Given the description of an element on the screen output the (x, y) to click on. 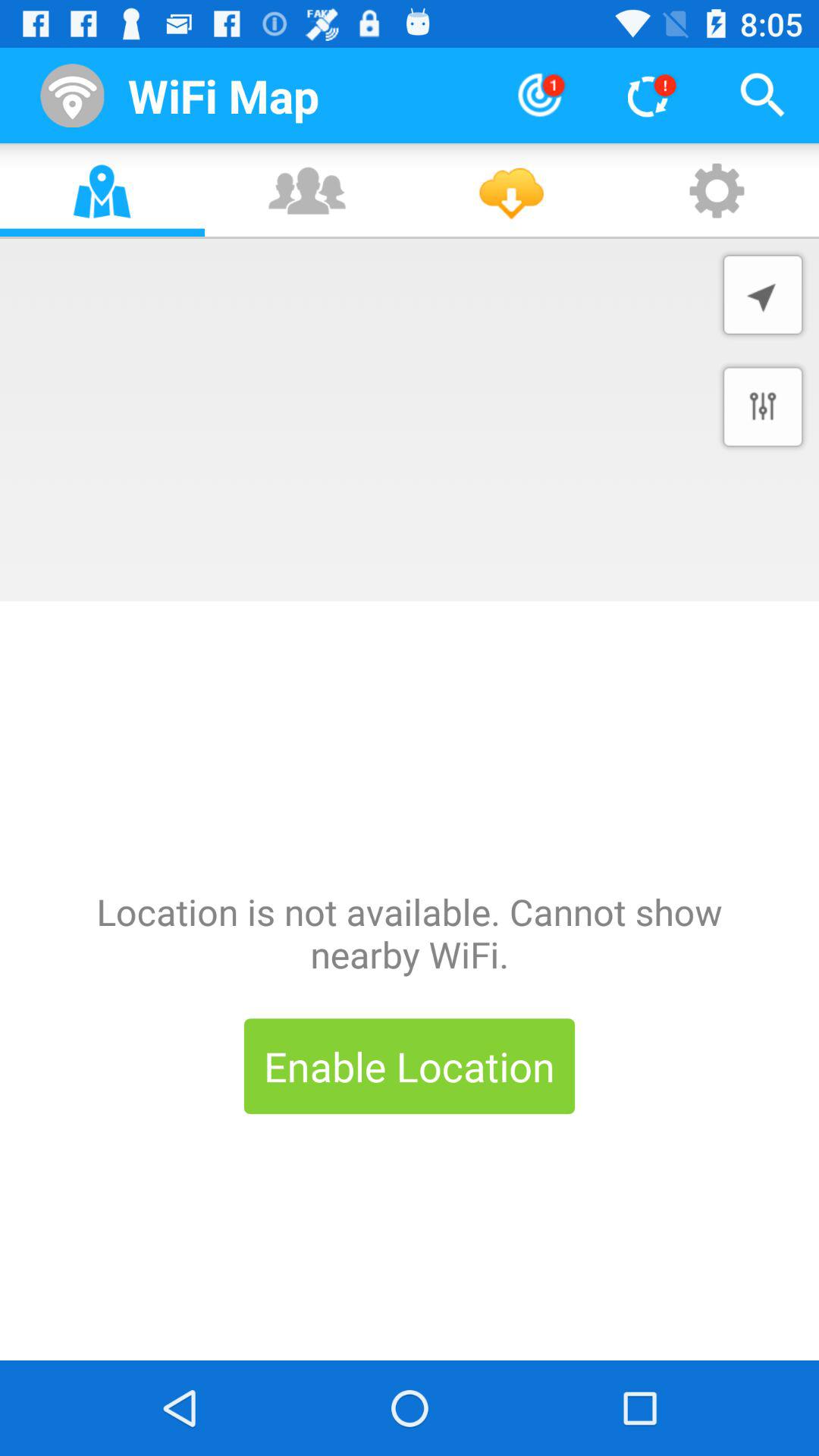
tap icon below the location is not icon (409, 1066)
